Given the description of an element on the screen output the (x, y) to click on. 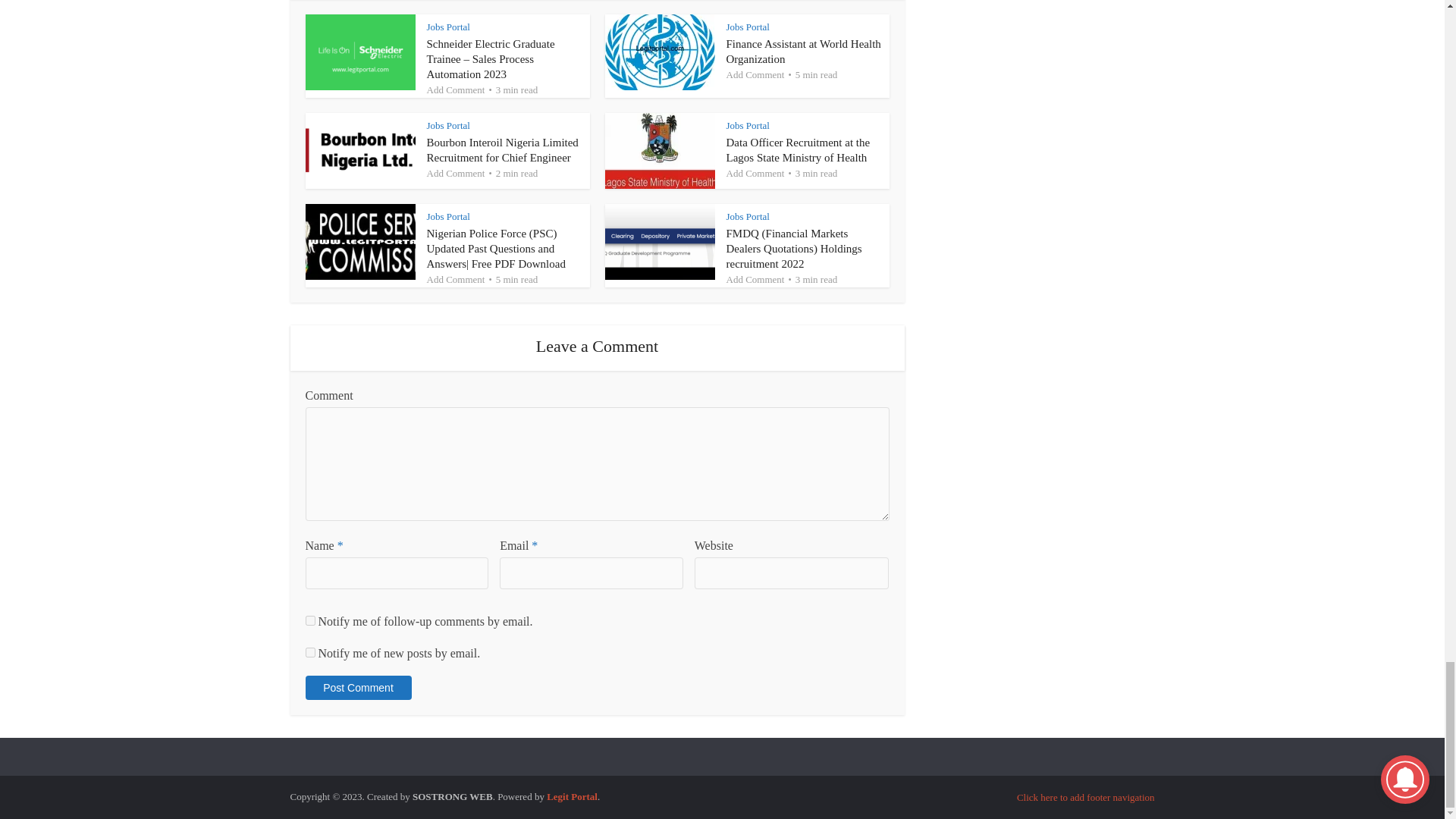
subscribe (309, 652)
Post Comment (357, 687)
subscribe (309, 620)
